Given the description of an element on the screen output the (x, y) to click on. 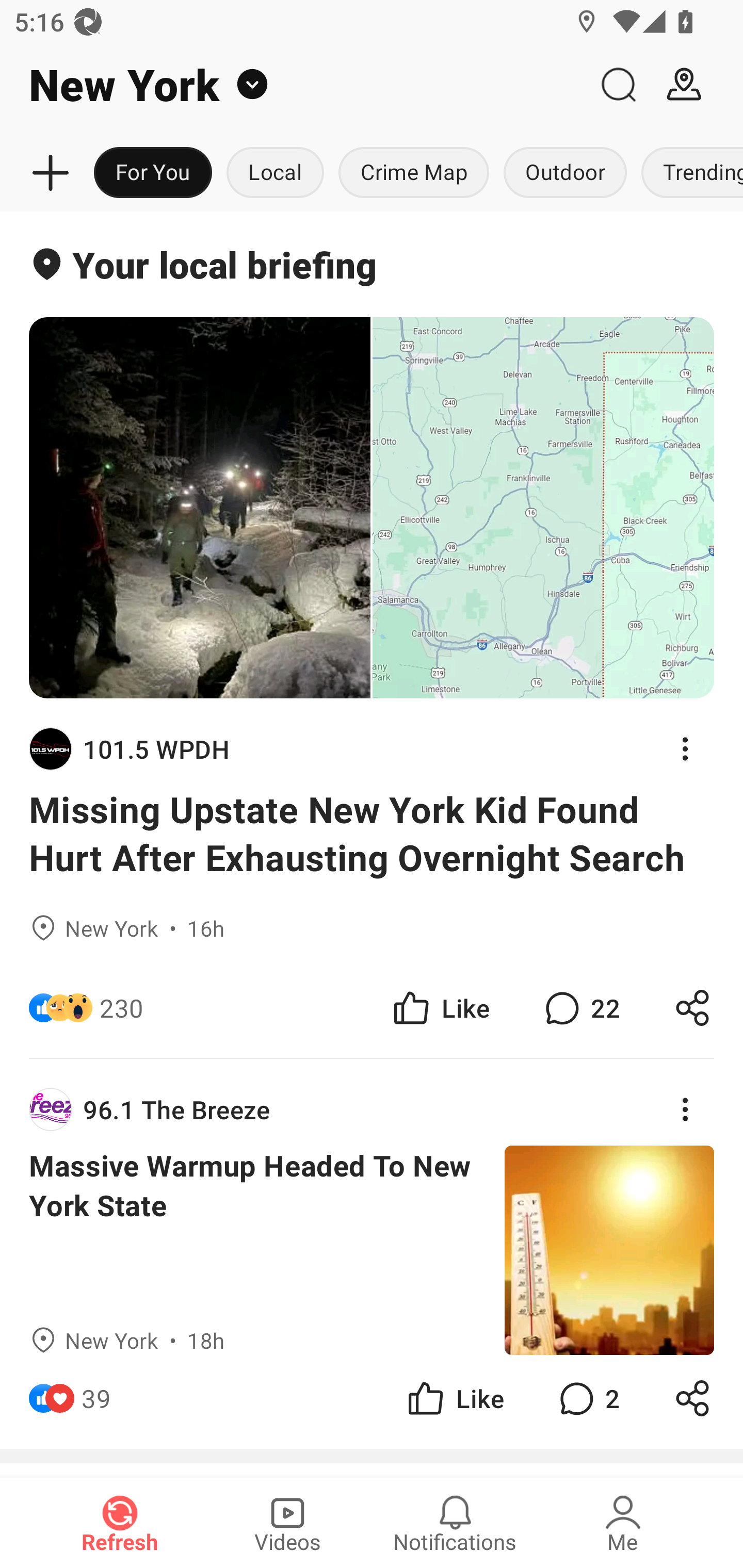
New York (292, 84)
For You (152, 172)
Local (275, 172)
Crime Map (413, 172)
Outdoor (564, 172)
Trending (688, 172)
230 (121, 1007)
Like (439, 1007)
22 (579, 1007)
39 (95, 1397)
Like (454, 1397)
2 (587, 1397)
Videos (287, 1522)
Notifications (455, 1522)
Me (622, 1522)
